Given the description of an element on the screen output the (x, y) to click on. 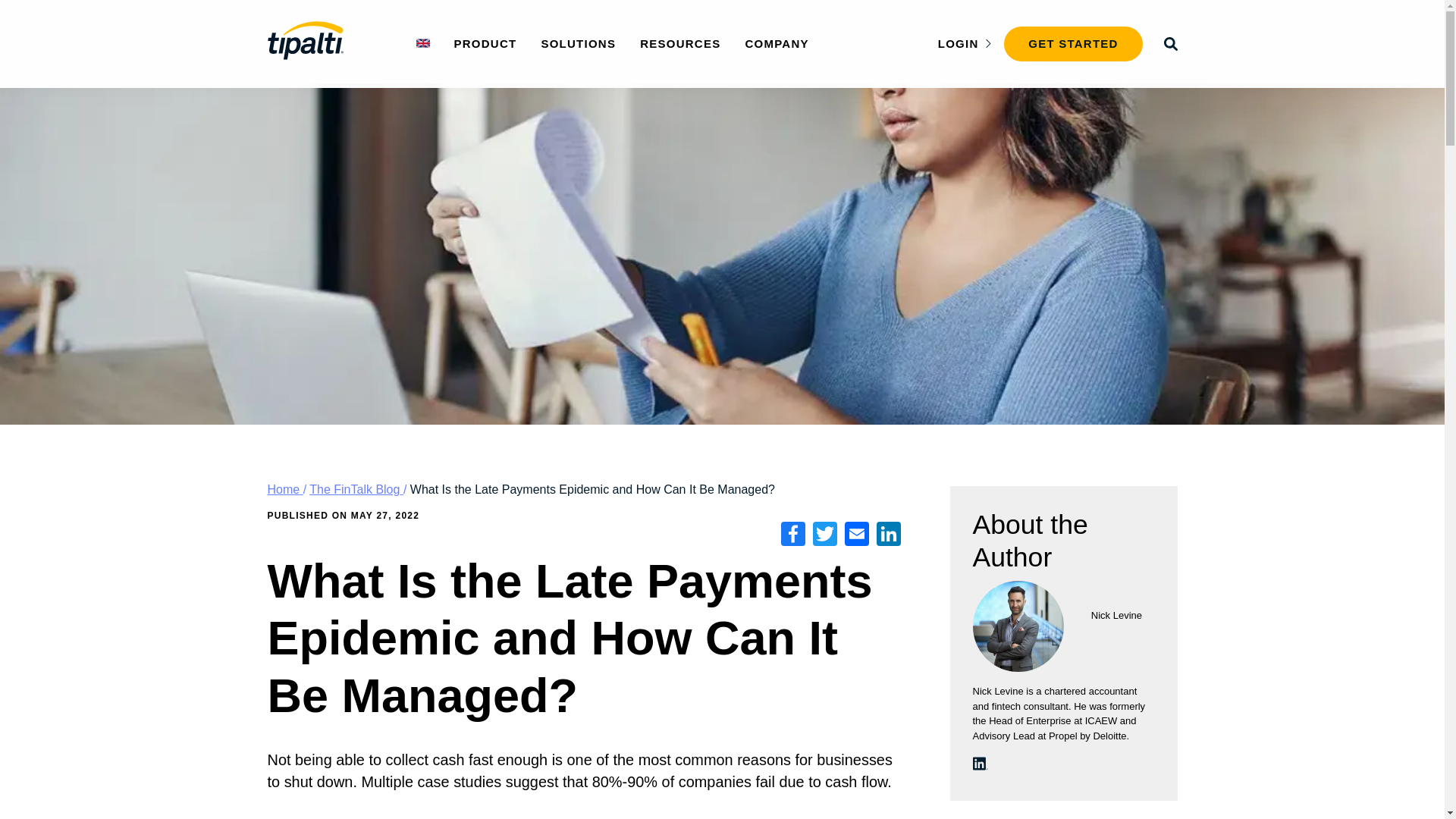
SOLUTIONS (577, 42)
RESOURCES (680, 42)
PRODUCT (484, 42)
